Given the description of an element on the screen output the (x, y) to click on. 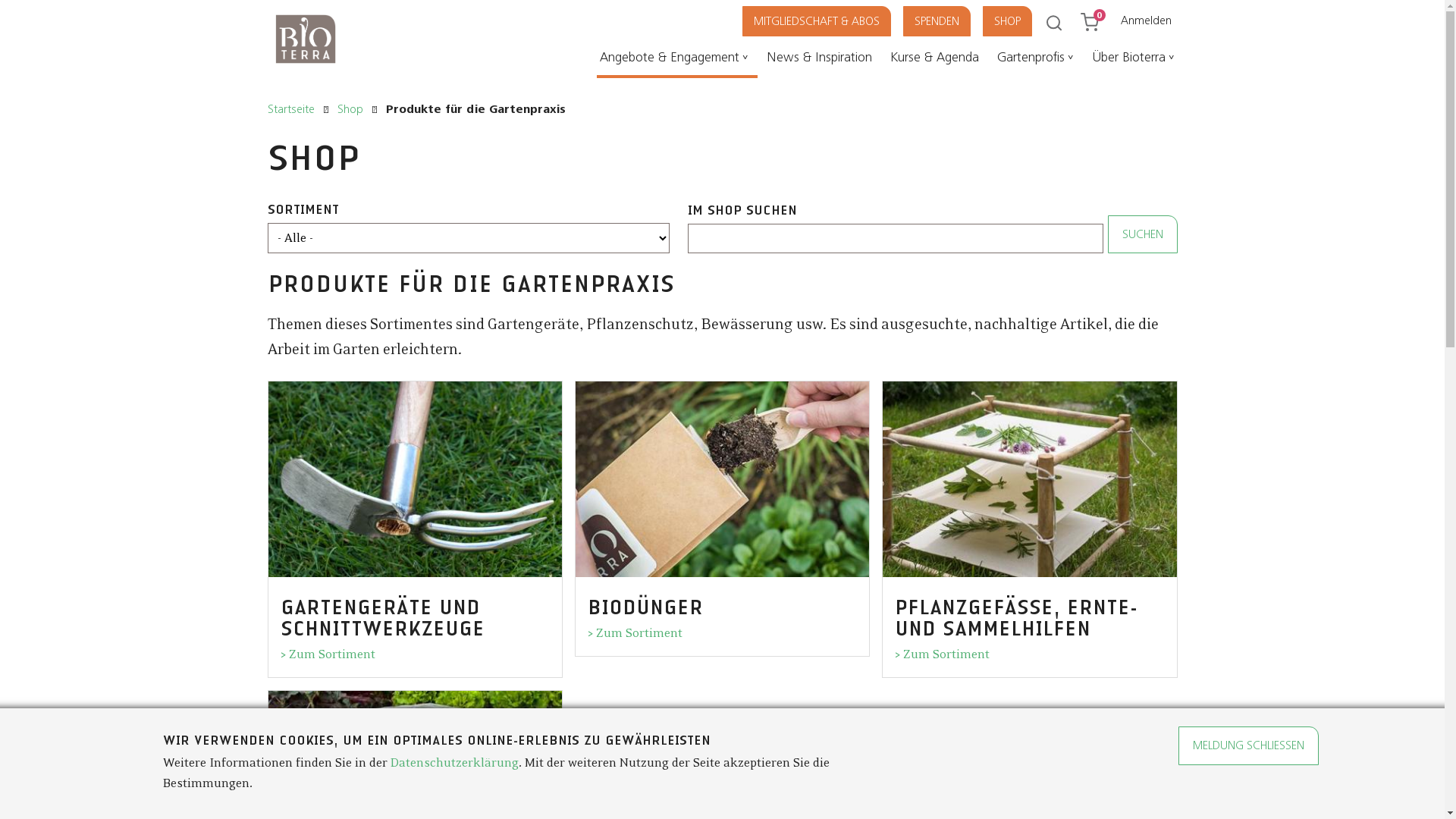
Suchen Element type: text (1141, 234)
SHOP Element type: text (1016, 20)
Startseite Element type: text (289, 109)
SPENDEN Element type: text (947, 20)
> Zum Sortiment Element type: text (941, 654)
Shop Element type: text (349, 109)
MITGLIEDSCHAFT & ABOS Element type: text (827, 20)
Kurse & Agenda Element type: text (937, 60)
Suchen Element type: text (12, 9)
Direkt zum Inhalt Element type: text (0, 0)
Home Element type: hover (304, 67)
> Zum Sortiment Element type: text (634, 632)
Gartenprofis
> Element type: text (1037, 60)
0 Element type: text (1096, 18)
> Zum Sortiment Element type: text (327, 654)
Anmelden Element type: text (1145, 20)
Angebote & Engagement
> Element type: text (676, 60)
News & Inspiration Element type: text (821, 60)
MELDUNG SCHLIESSEN Element type: text (1248, 745)
